Given the description of an element on the screen output the (x, y) to click on. 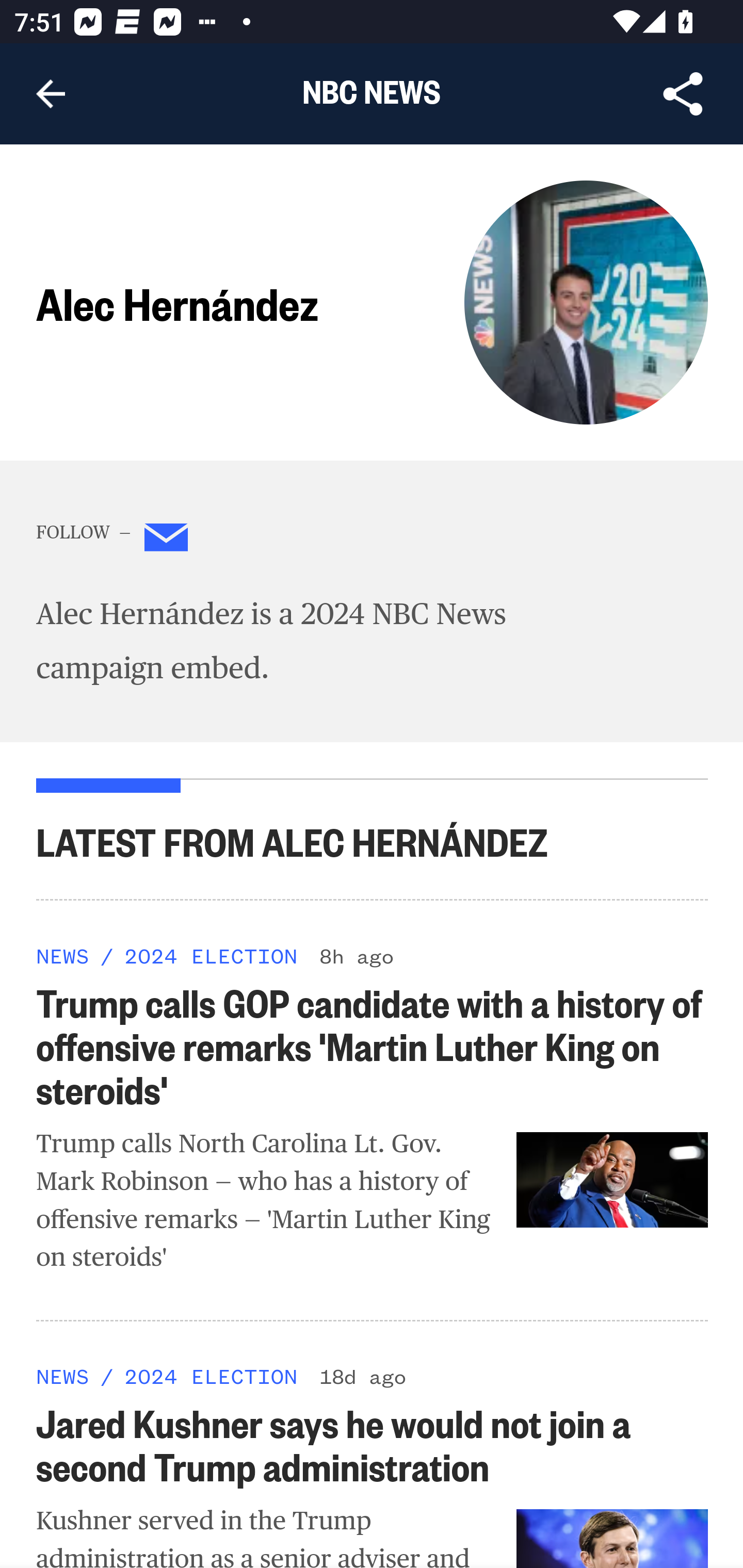
Navigate up (50, 93)
Share Article, button (683, 94)
 (166, 540)
NEWS NEWS NEWS (63, 954)
2024 ELECTION 2024 ELECTION 2024 ELECTION (209, 954)
NEWS NEWS NEWS (63, 1375)
2024 ELECTION 2024 ELECTION 2024 ELECTION (209, 1375)
